Given the description of an element on the screen output the (x, y) to click on. 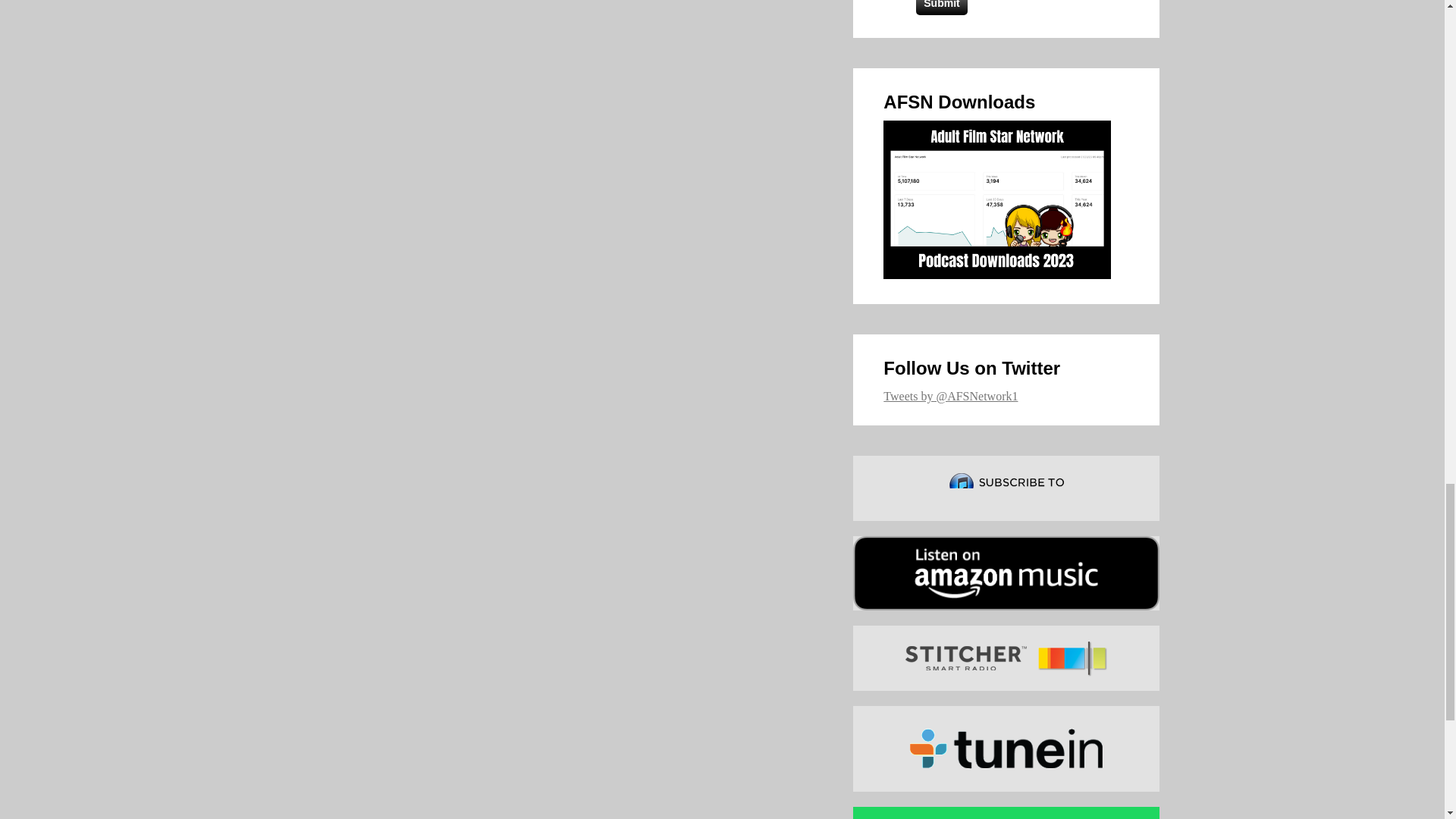
itunes (1005, 487)
stitcher (1005, 658)
Submit (940, 7)
Spotify  (1005, 812)
Submit (940, 7)
Amazon Podcasts (1005, 573)
tunein (1005, 748)
